Given the description of an element on the screen output the (x, y) to click on. 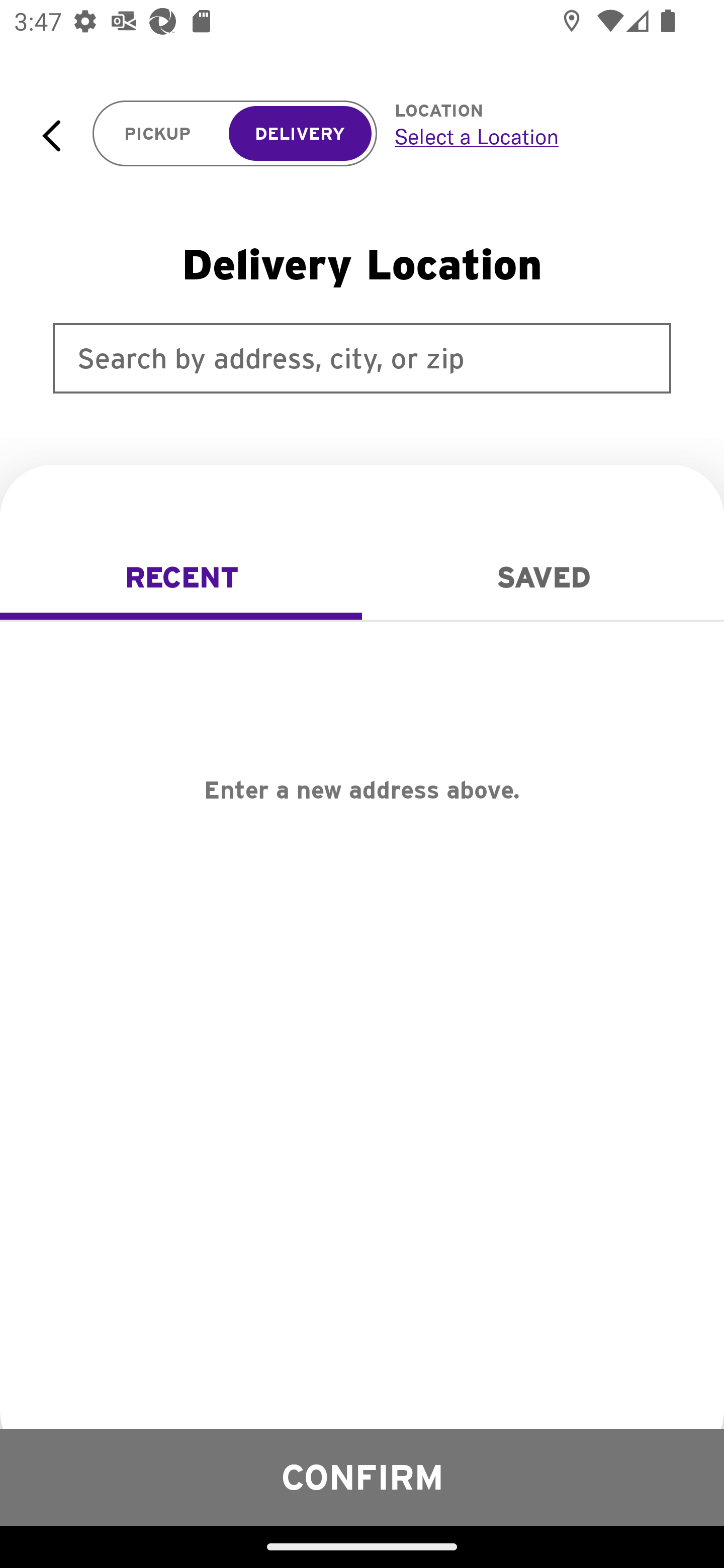
PICKUP (157, 133)
DELIVERY (299, 133)
Select a Location (536, 136)
Search by address, city, or zip (361, 358)
Saved SAVED (543, 576)
CONFIRM (362, 1476)
